Given the description of an element on the screen output the (x, y) to click on. 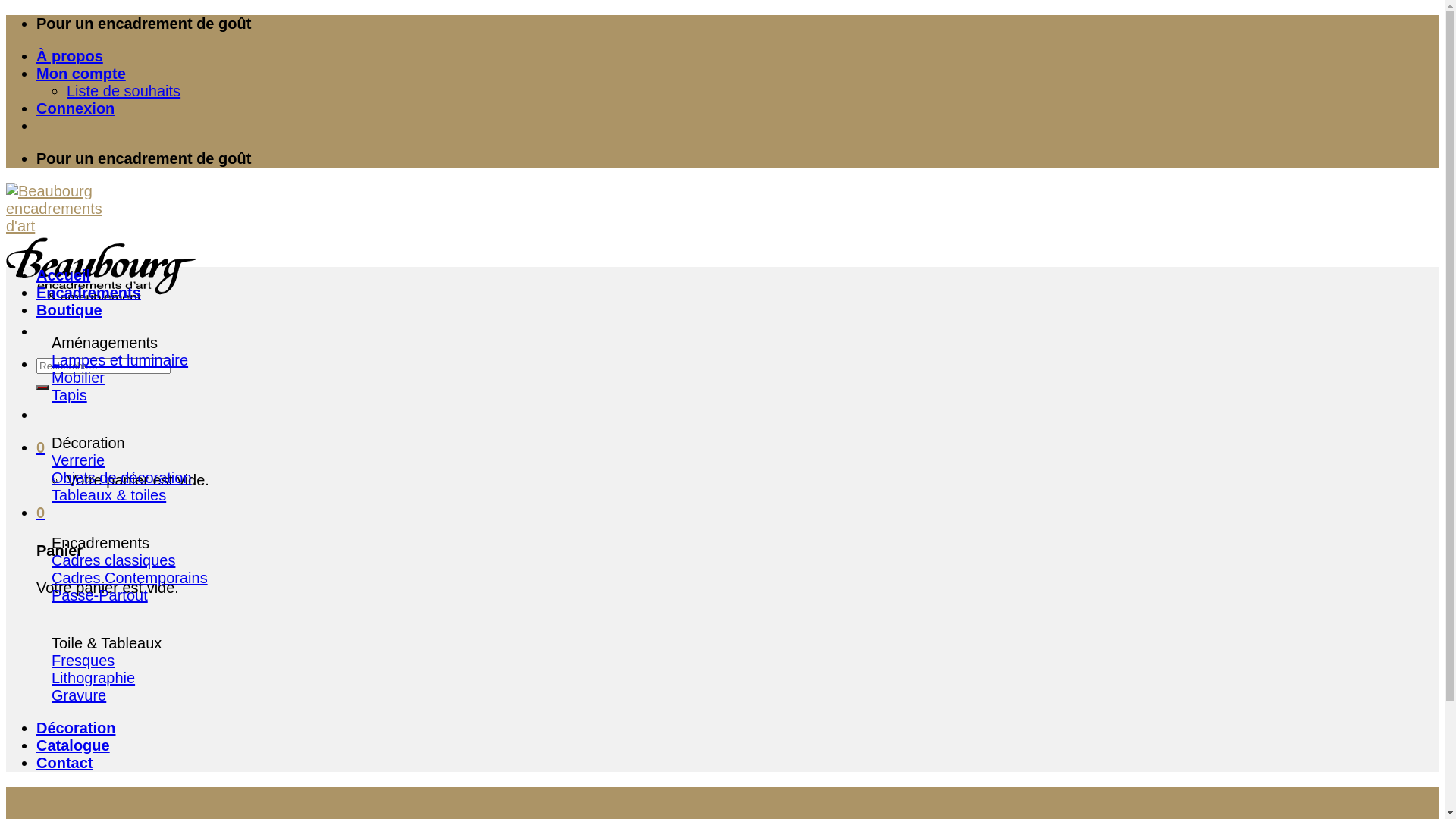
Boutique Element type: text (69, 309)
Lithographie Element type: text (92, 677)
Encadrements Element type: text (88, 292)
Mon compte Element type: text (80, 73)
Skip to content Element type: text (5, 14)
Cadres Contemporains Element type: text (129, 577)
Recherche Element type: text (42, 387)
Contact Element type: text (64, 762)
0 Element type: text (40, 512)
Gravure Element type: text (78, 695)
Tapis Element type: text (69, 394)
Lampes et luminaire Element type: text (119, 359)
Fresques Element type: text (82, 660)
Accueil Element type: text (63, 274)
Mobilier Element type: text (77, 377)
Tableaux & toiles Element type: text (108, 494)
Connexion Element type: text (75, 108)
Liste de souhaits Element type: text (123, 90)
0 Element type: text (40, 447)
Verrerie Element type: text (77, 459)
Catalogue Element type: text (72, 745)
Passe-Partout Element type: text (99, 594)
Cadres classiques Element type: text (113, 560)
